Given the description of an element on the screen output the (x, y) to click on. 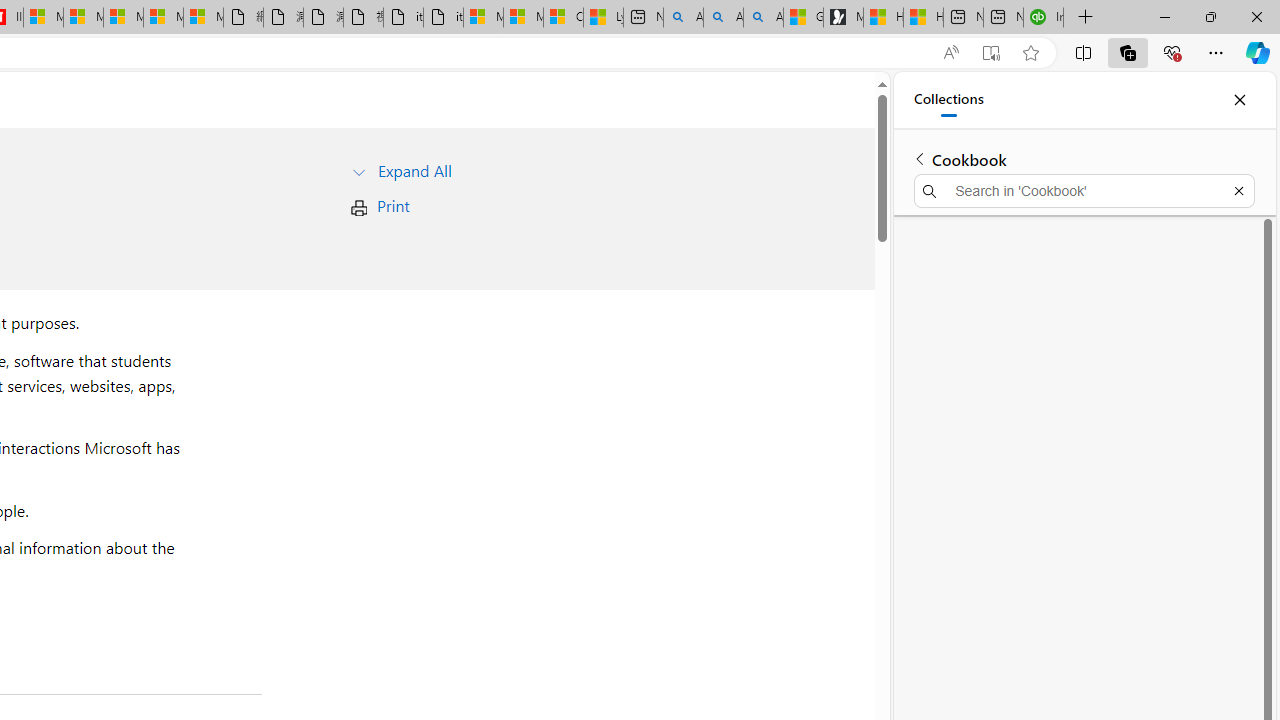
Print (392, 205)
How to Use a TV as a Computer Monitor (923, 17)
Consumer Health Data Privacy Policy (563, 17)
Exit search (1238, 190)
Search in 'Cookbook' (1084, 190)
